Given the description of an element on the screen output the (x, y) to click on. 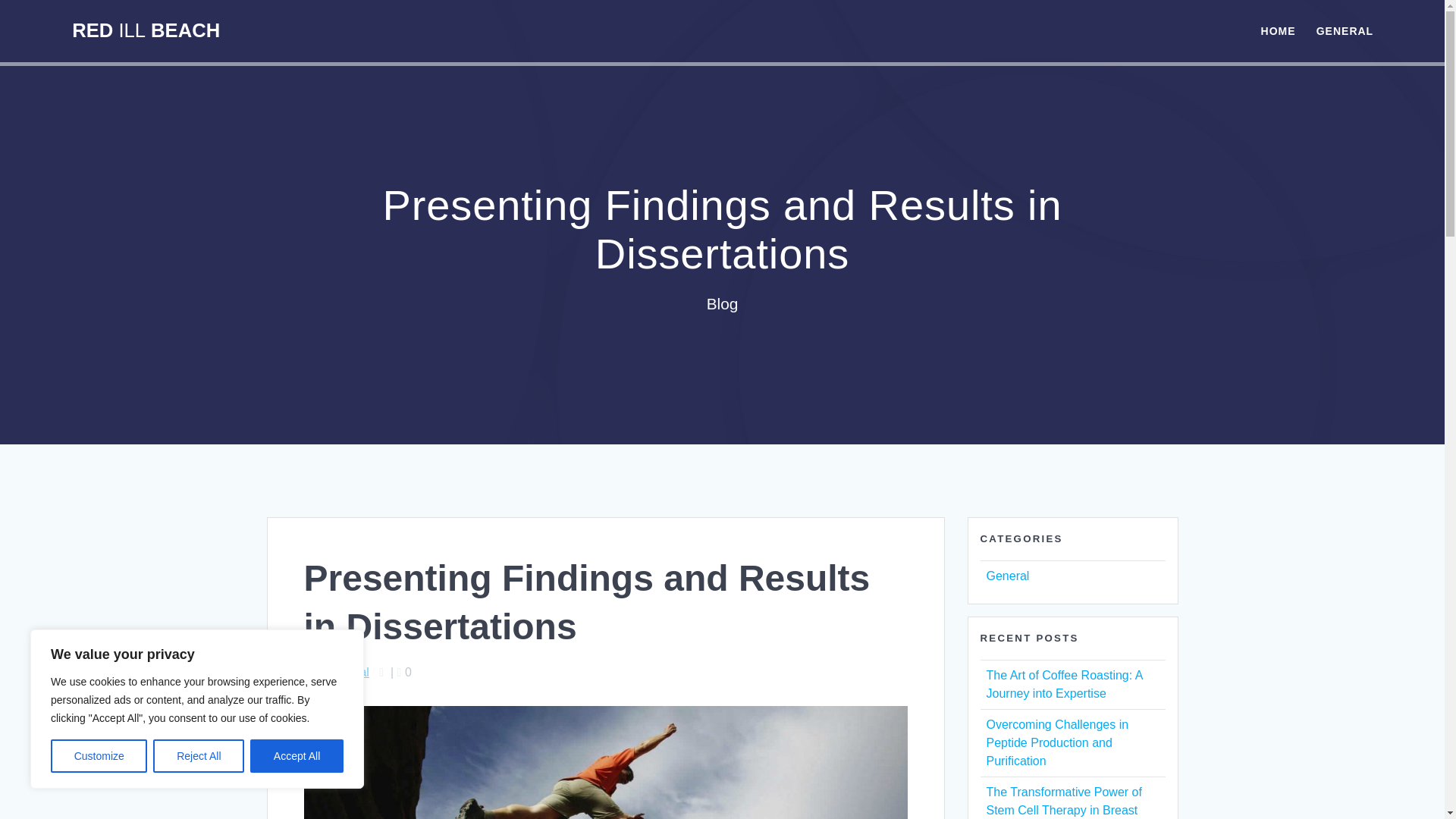
General (1007, 575)
HOME (1277, 30)
The Art of Coffee Roasting: A Journey into Expertise (1063, 684)
RED ILL BEACH (145, 30)
General (347, 671)
Customize (98, 756)
GENERAL (1344, 30)
Accept All (296, 756)
Reject All (198, 756)
